Given the description of an element on the screen output the (x, y) to click on. 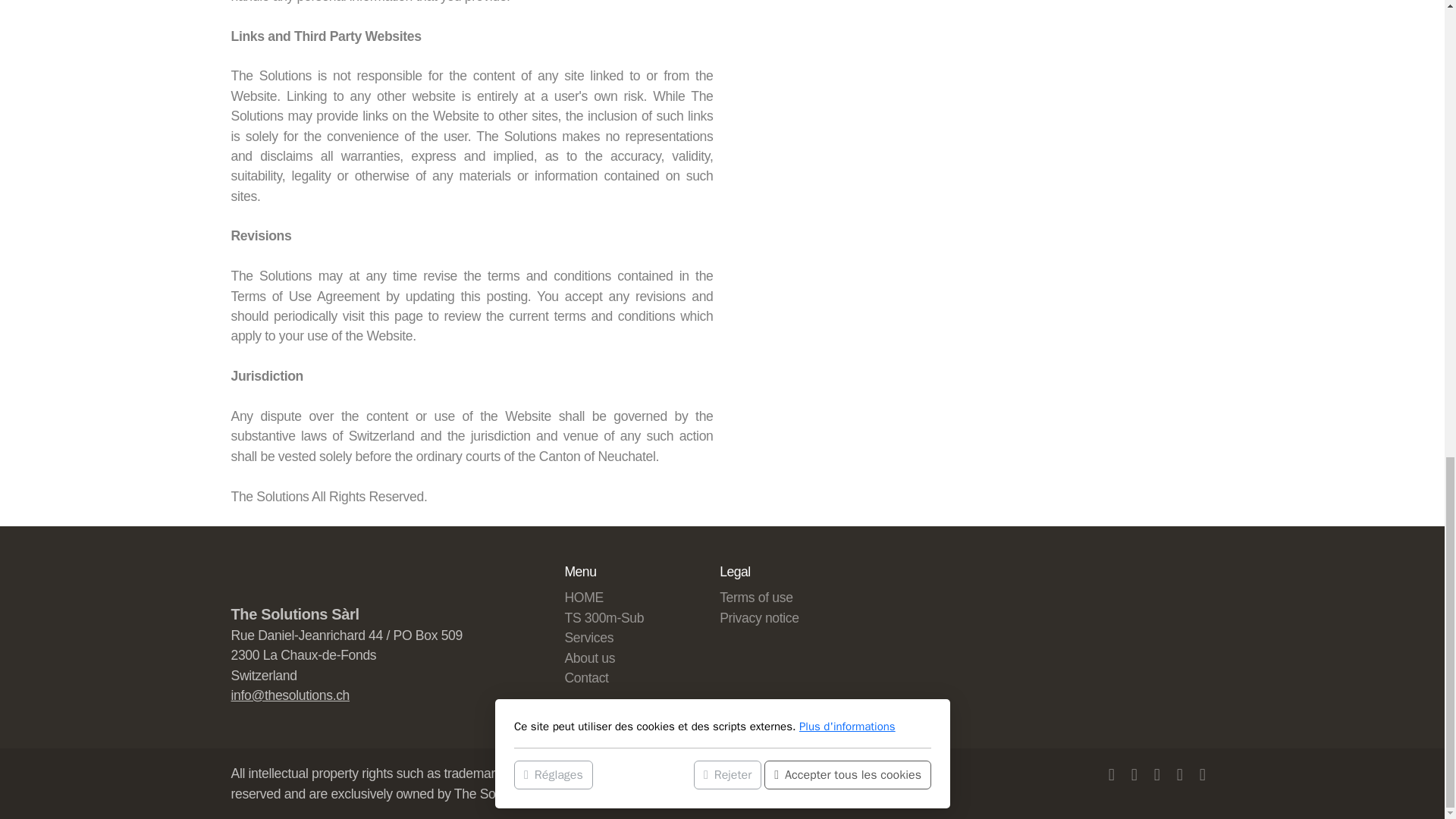
HOME (583, 597)
About us (589, 657)
Terms of use (755, 597)
Terms of use (755, 597)
About us (589, 657)
Privacy notice (759, 617)
Services (588, 637)
HOME (583, 597)
TS 300m-Sub (603, 617)
Contact (586, 677)
